Given the description of an element on the screen output the (x, y) to click on. 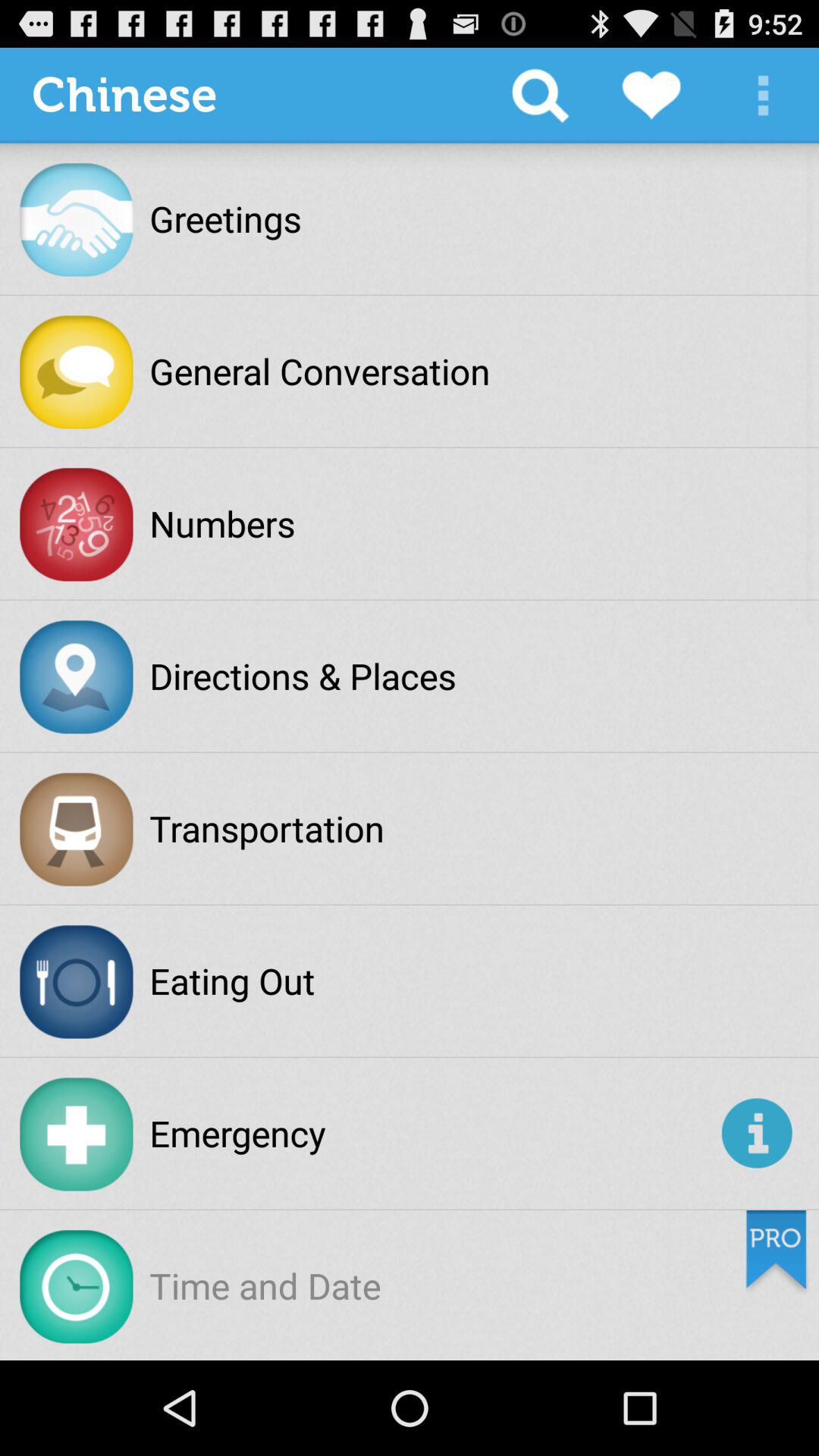
tap the app at the bottom (432, 1133)
